Given the description of an element on the screen output the (x, y) to click on. 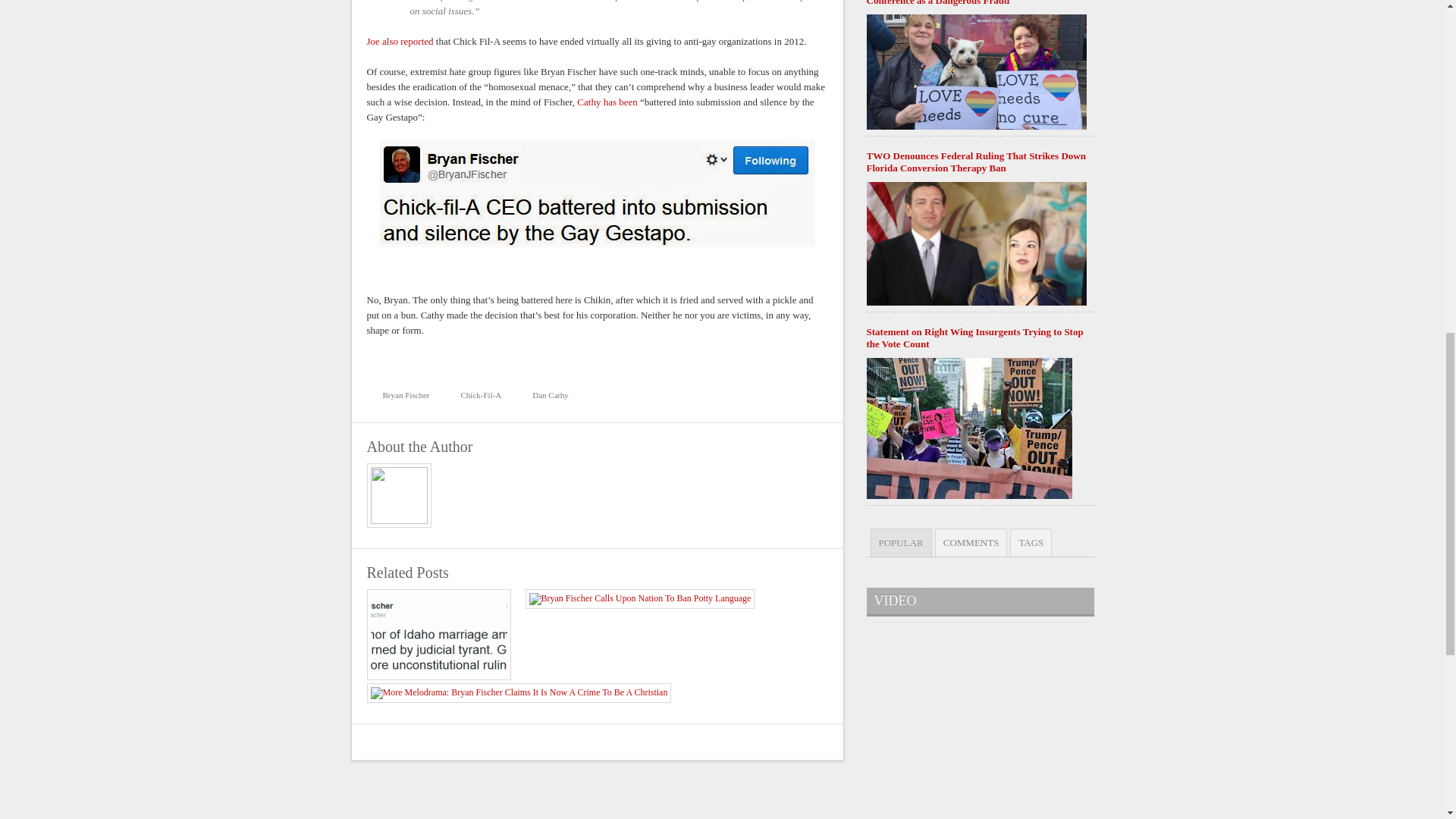
Bryan Fischer (402, 395)
Bryan Fischer Calls Upon Nation To Ban Potty Language (639, 597)
Chick-Fil-A (477, 395)
Dan Cathy (545, 395)
Cathy has been (606, 101)
